Given the description of an element on the screen output the (x, y) to click on. 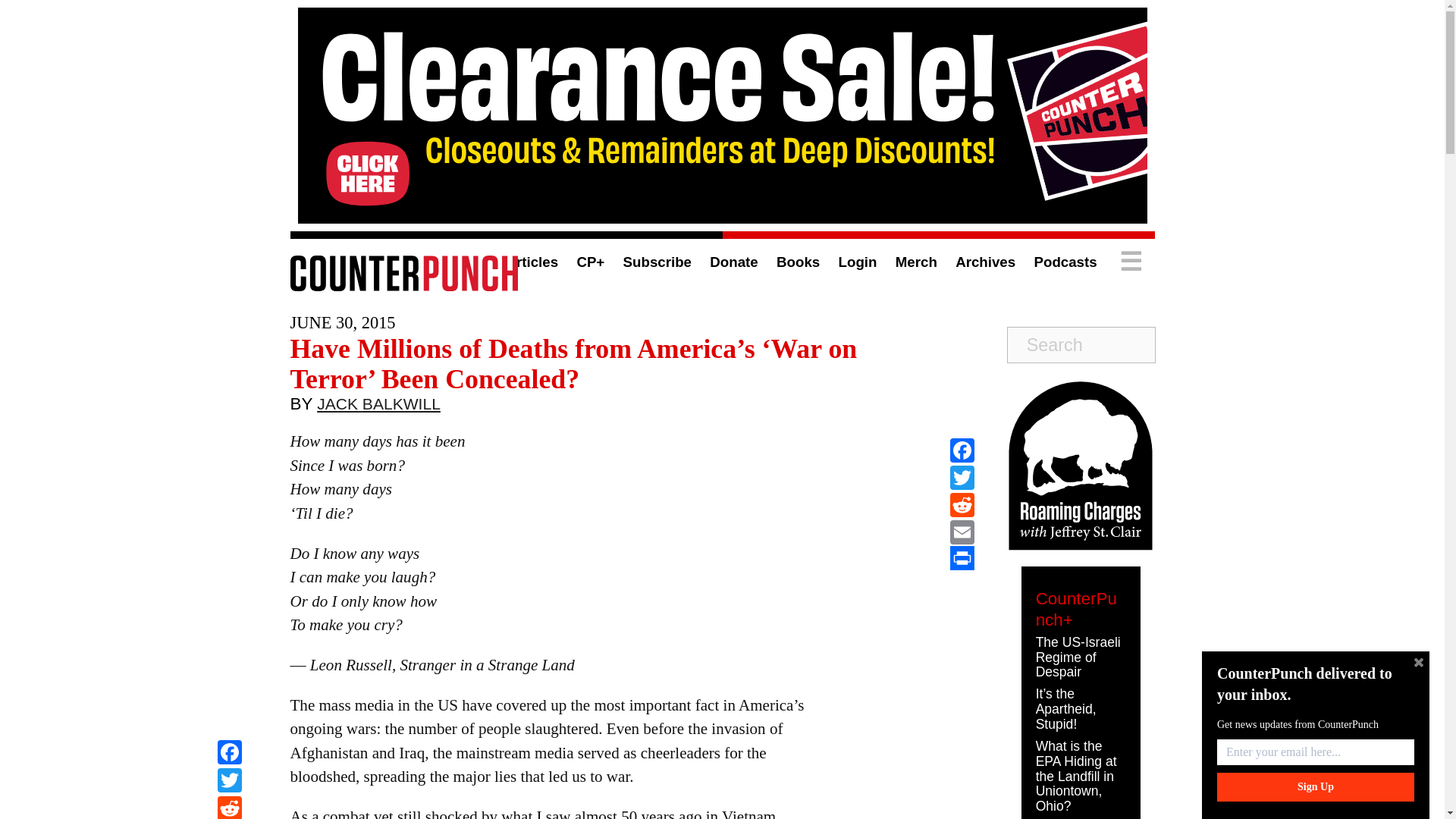
Donate (733, 261)
Merch (916, 261)
Subscribe (657, 261)
Sign Up (1315, 787)
Articles (531, 261)
Reddit (229, 807)
Twitter (229, 782)
Print This Post (962, 558)
JACK BALKWILL (379, 407)
Books (797, 261)
Facebook (229, 754)
Login (857, 261)
Twitter (962, 477)
Reddit (229, 807)
Facebook (229, 754)
